Given the description of an element on the screen output the (x, y) to click on. 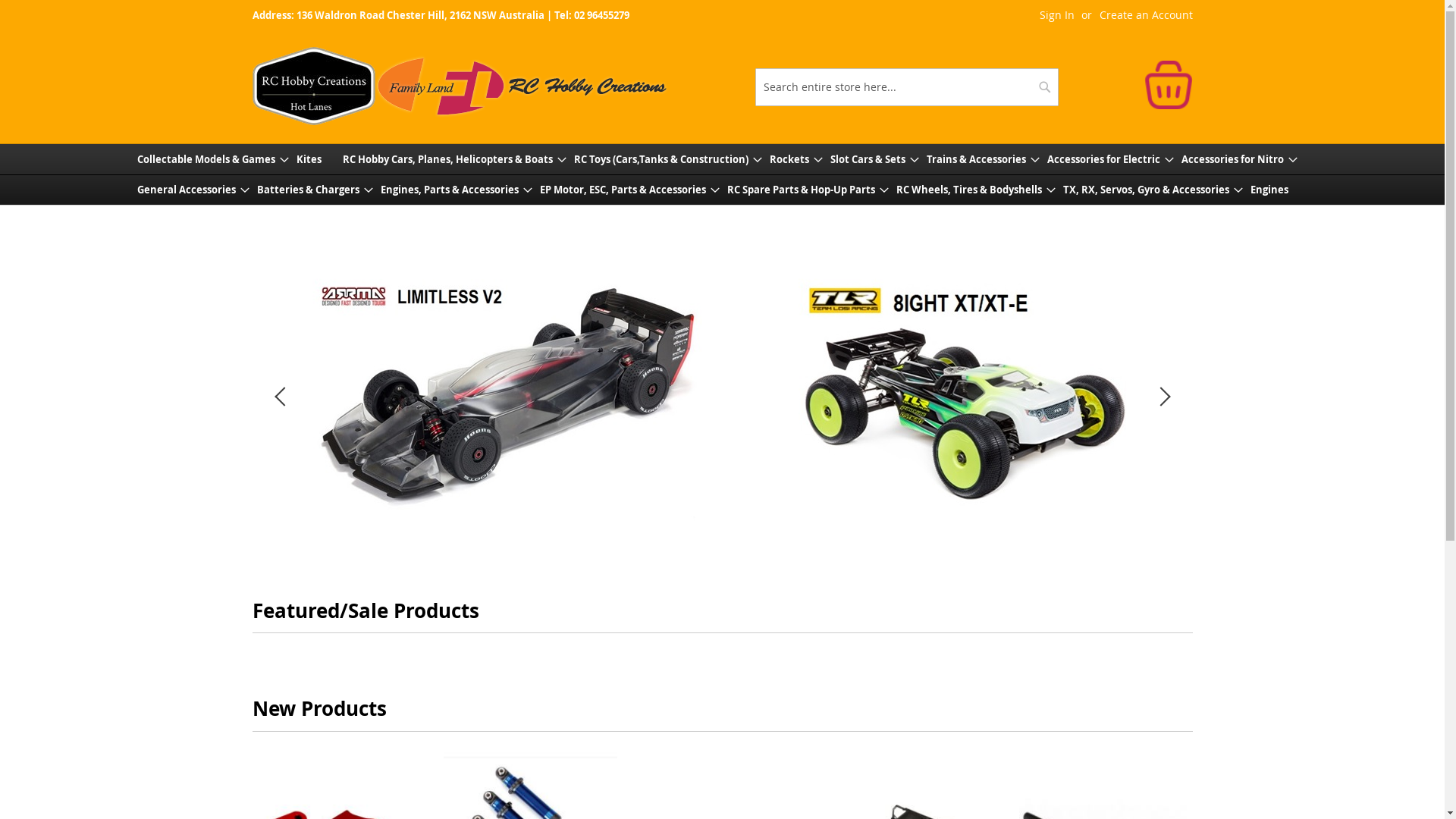
Batteries & Chargers Element type: text (314, 189)
Previous Element type: text (281, 396)
Familyland Element type: hover (459, 86)
EP Motor, ESC, Parts & Accessories Element type: text (629, 189)
Sign In Element type: text (1055, 14)
RC Toys (Cars,Tanks & Construction) Element type: text (667, 159)
RC Wheels, Tires & Bodyshells Element type: text (975, 189)
Create an Account Element type: text (1145, 14)
Slot Cars & Sets Element type: text (873, 159)
TX, RX, Servos, Gyro & Accessories Element type: text (1152, 189)
Accessories for Nitro Element type: text (1239, 159)
Engines Element type: text (1275, 189)
Trains & Accessories Element type: text (982, 159)
RC Hobby Cars, Planes, Helicopters & Boats Element type: text (454, 159)
Search Element type: text (1044, 87)
General Accessories Element type: text (192, 189)
Engines, Parts & Accessories Element type: text (456, 189)
Accessories for Electric Element type: text (1109, 159)
Kites Element type: text (314, 159)
Skip to Content Element type: text (251, 6)
Collectable Models & Games Element type: text (212, 159)
My Cart Element type: text (1167, 84)
Rockets Element type: text (795, 159)
Next Element type: text (1161, 396)
RC Spare Parts & Hop-Up Parts Element type: text (807, 189)
